Given the description of an element on the screen output the (x, y) to click on. 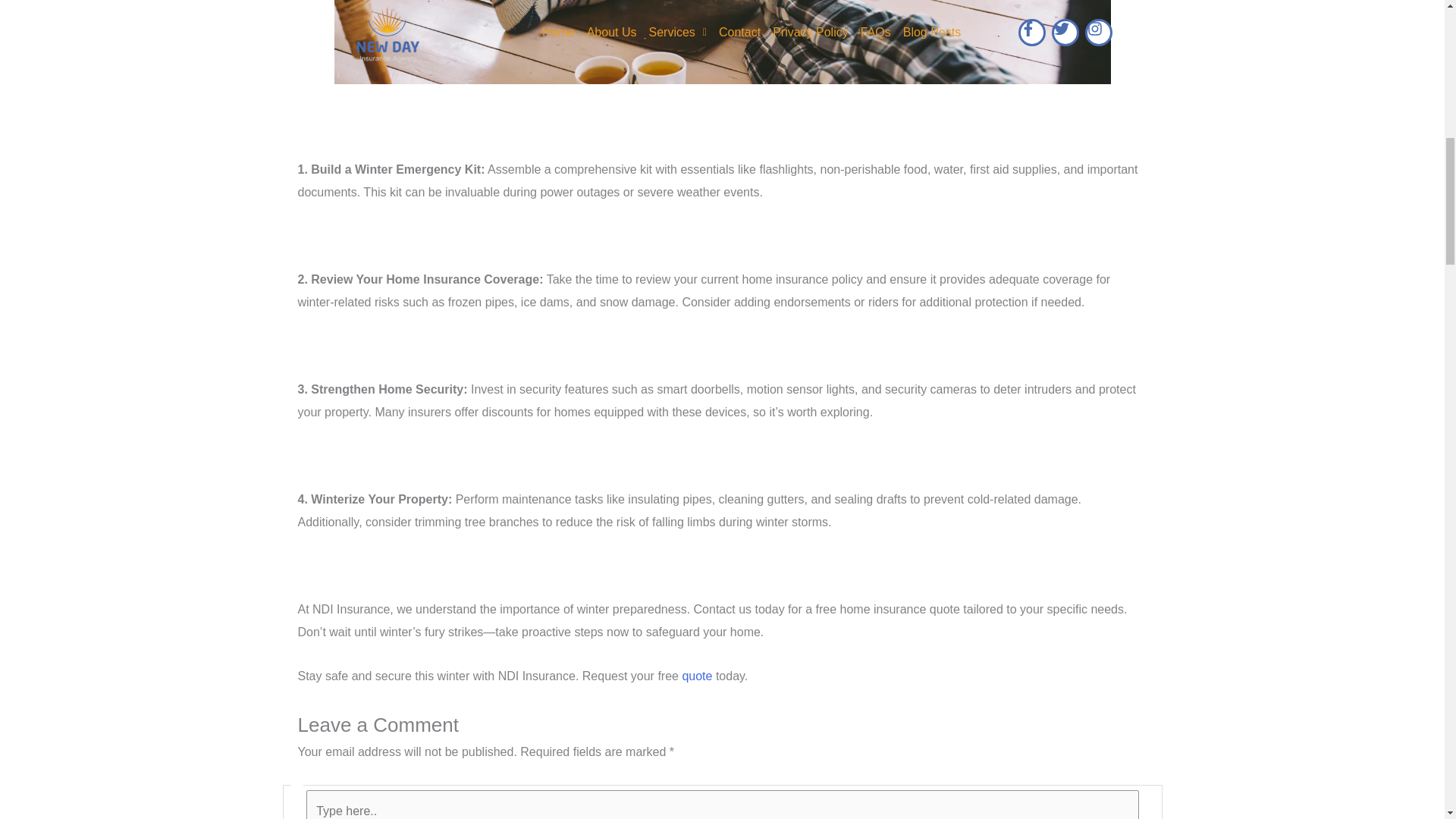
quote (696, 675)
